Given the description of an element on the screen output the (x, y) to click on. 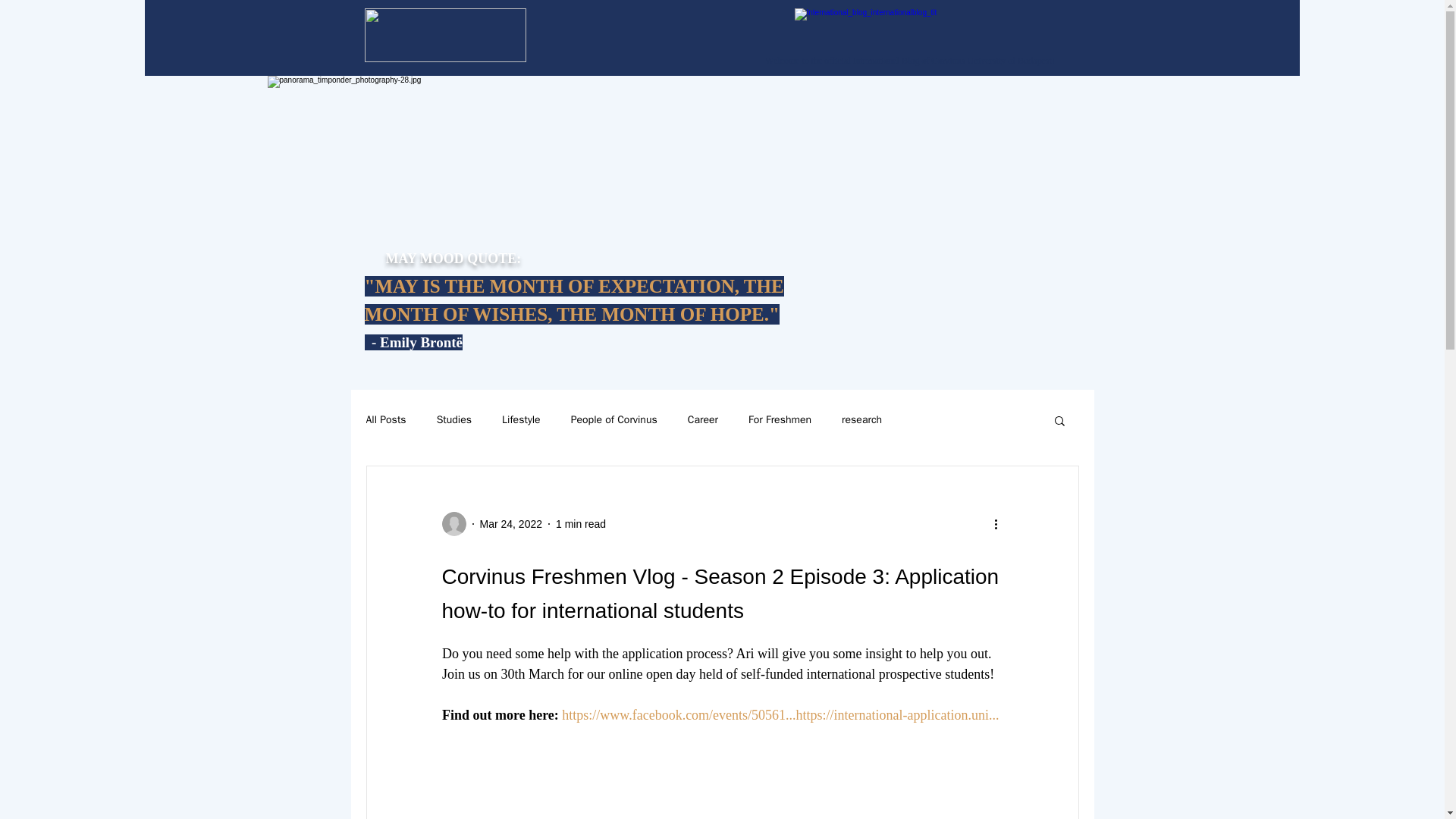
For Freshmen (779, 419)
People of Corvinus (614, 419)
research (861, 419)
1 min read (580, 522)
All Posts (385, 419)
Lifestyle (521, 419)
Career (702, 419)
Studies (453, 419)
Mar 24, 2022 (510, 522)
